Given the description of an element on the screen output the (x, y) to click on. 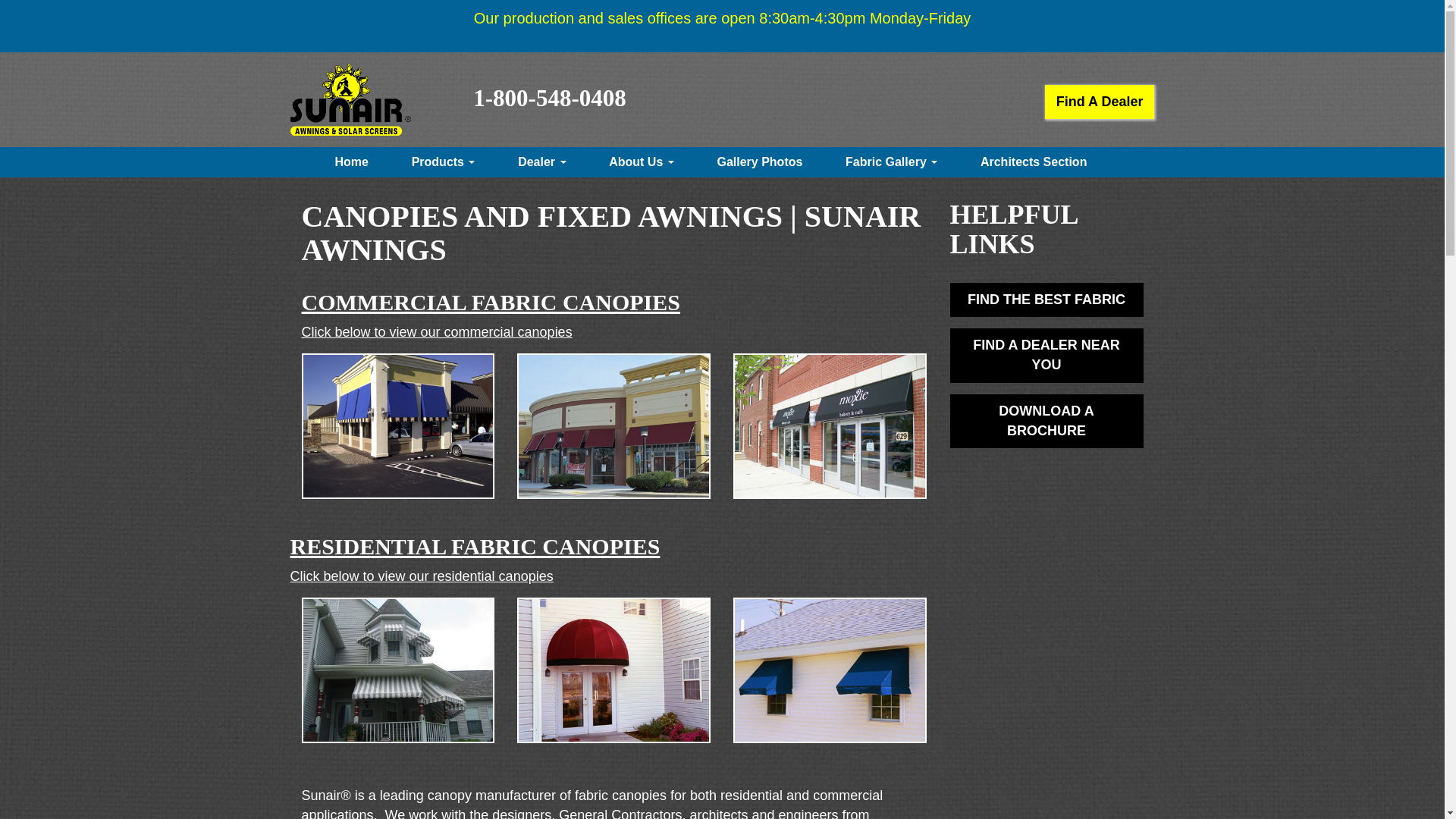
Products (442, 162)
Dealer (541, 162)
1-800-548-0408 (549, 98)
About Us (641, 162)
Sunair Awnings (349, 98)
About Us (641, 162)
Gallery Photos (759, 162)
Dealer (541, 162)
Products (442, 162)
Home (351, 162)
Find A Dealer (1099, 102)
COMMERCIAL FABRIC CANOPIES (490, 301)
Home (351, 162)
Fabric Gallery (891, 162)
Architects Section (1033, 162)
